Given the description of an element on the screen output the (x, y) to click on. 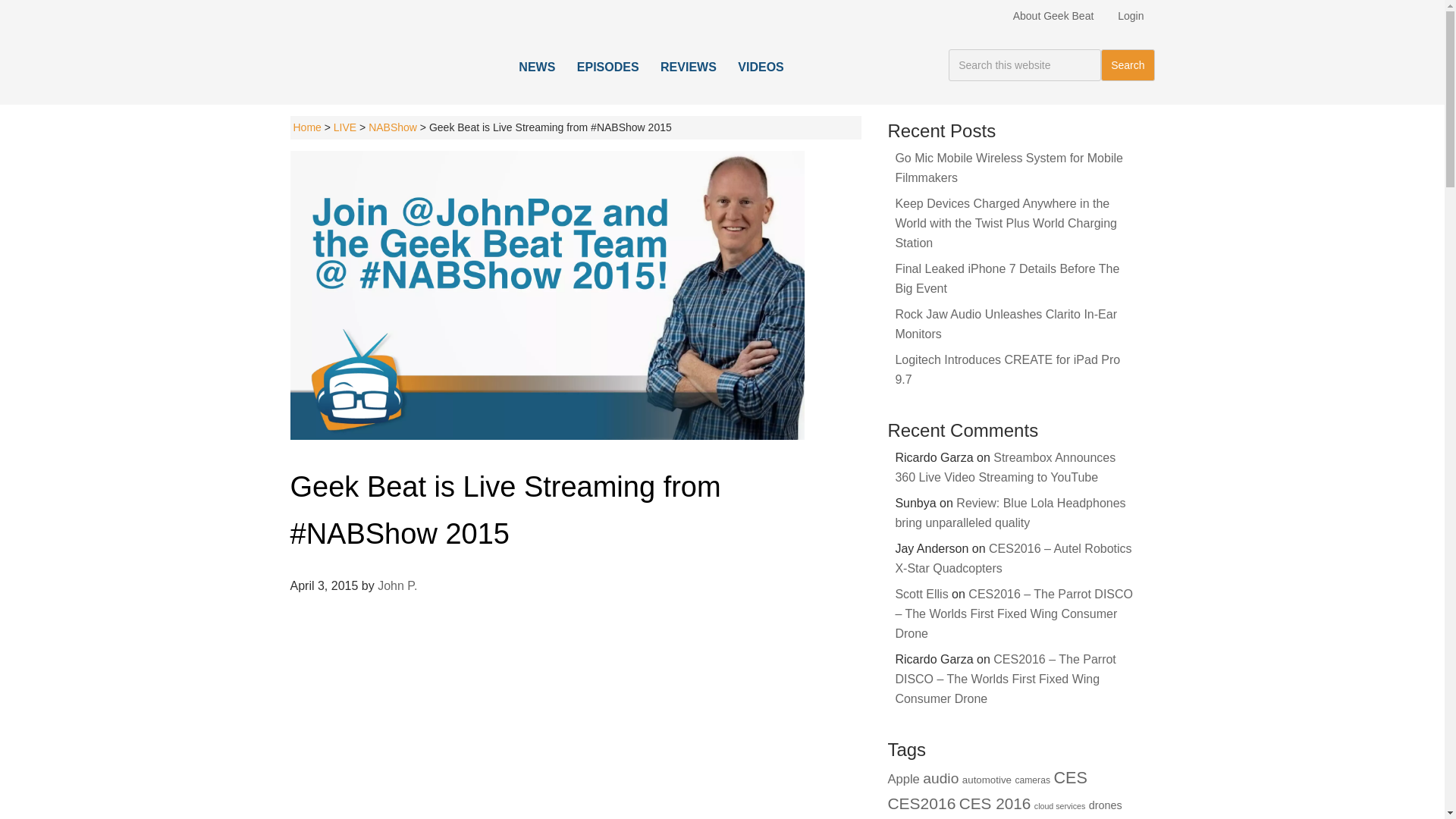
About Geek Beat (1054, 15)
Search (1127, 65)
John P. (396, 585)
NABShow (392, 127)
Home (306, 127)
GEEK BEAT (392, 64)
REVIEWS (687, 67)
LIVE (344, 127)
Login (1130, 15)
Search (1127, 65)
EPISODES (607, 67)
Search (1127, 65)
